Given the description of an element on the screen output the (x, y) to click on. 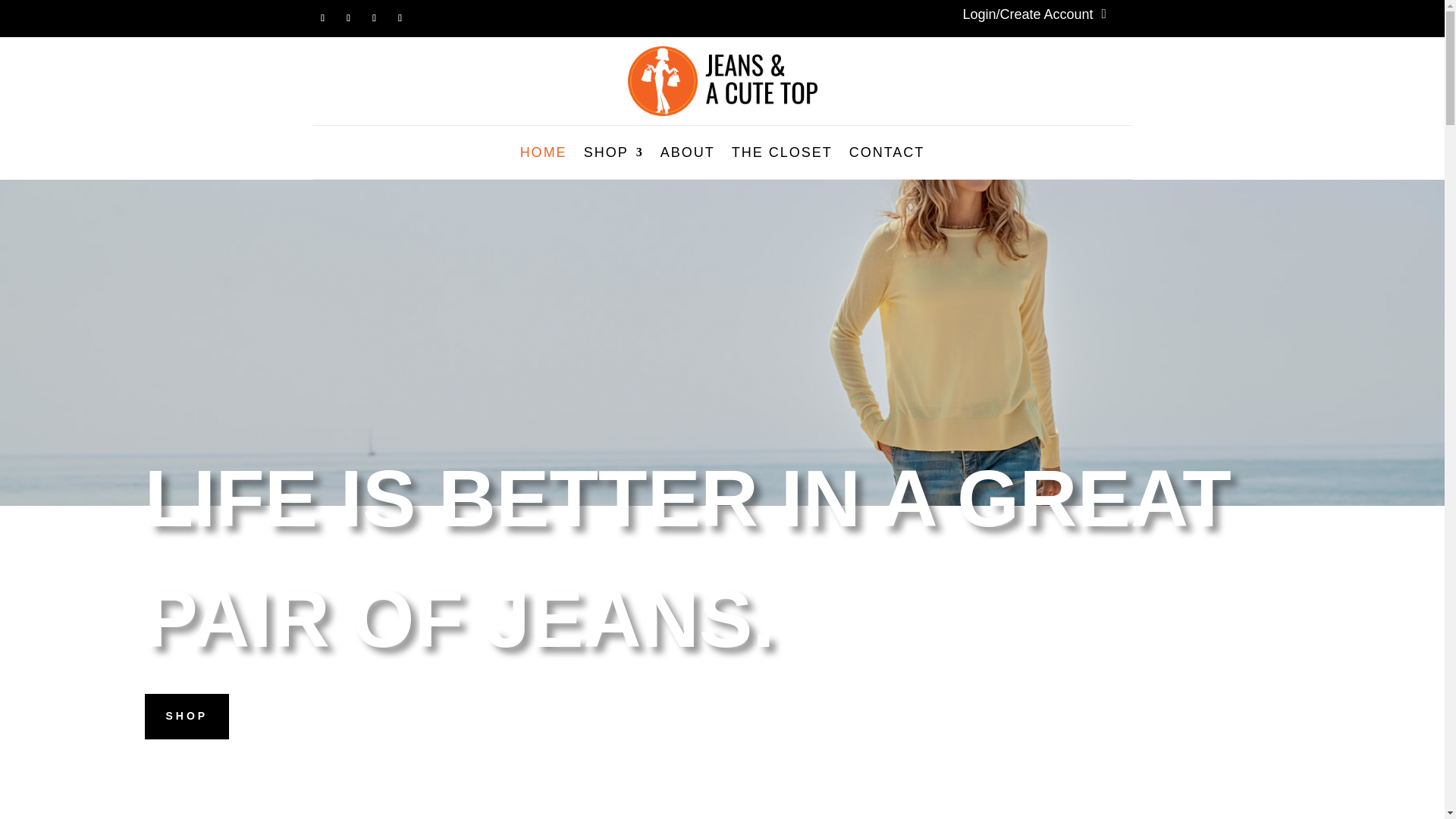
Follow on Pinterest (399, 17)
SHOP (186, 716)
HOME (543, 155)
Follow on Instagram (374, 17)
THE CLOSET (782, 155)
Follow on Facebook (322, 17)
CONTACT (886, 155)
Follow on X (347, 17)
ABOUT (687, 155)
SHOP (613, 155)
